Given the description of an element on the screen output the (x, y) to click on. 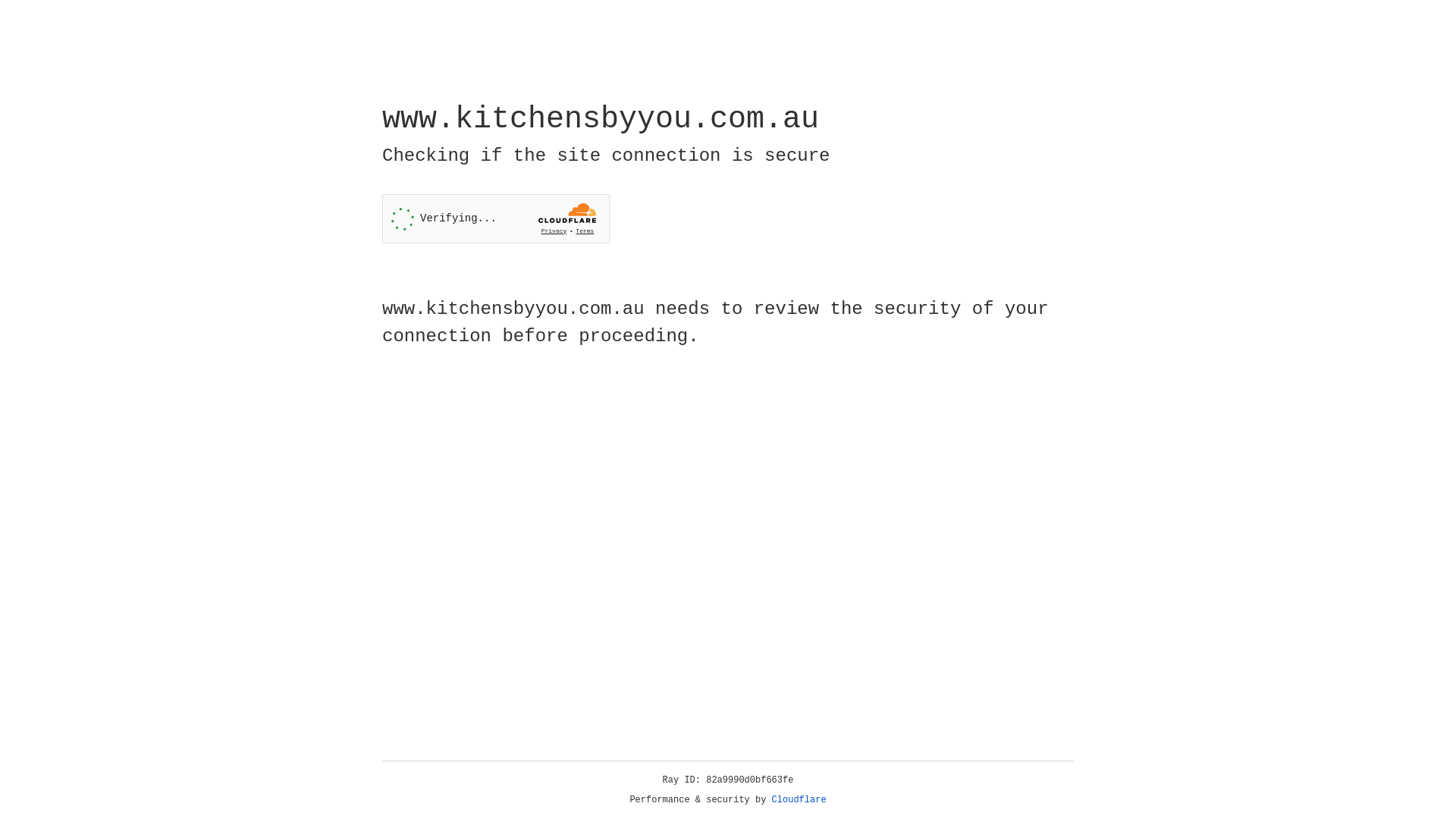
Cloudflare Element type: text (798, 799)
Widget containing a Cloudflare security challenge Element type: hover (495, 218)
